Given the description of an element on the screen output the (x, y) to click on. 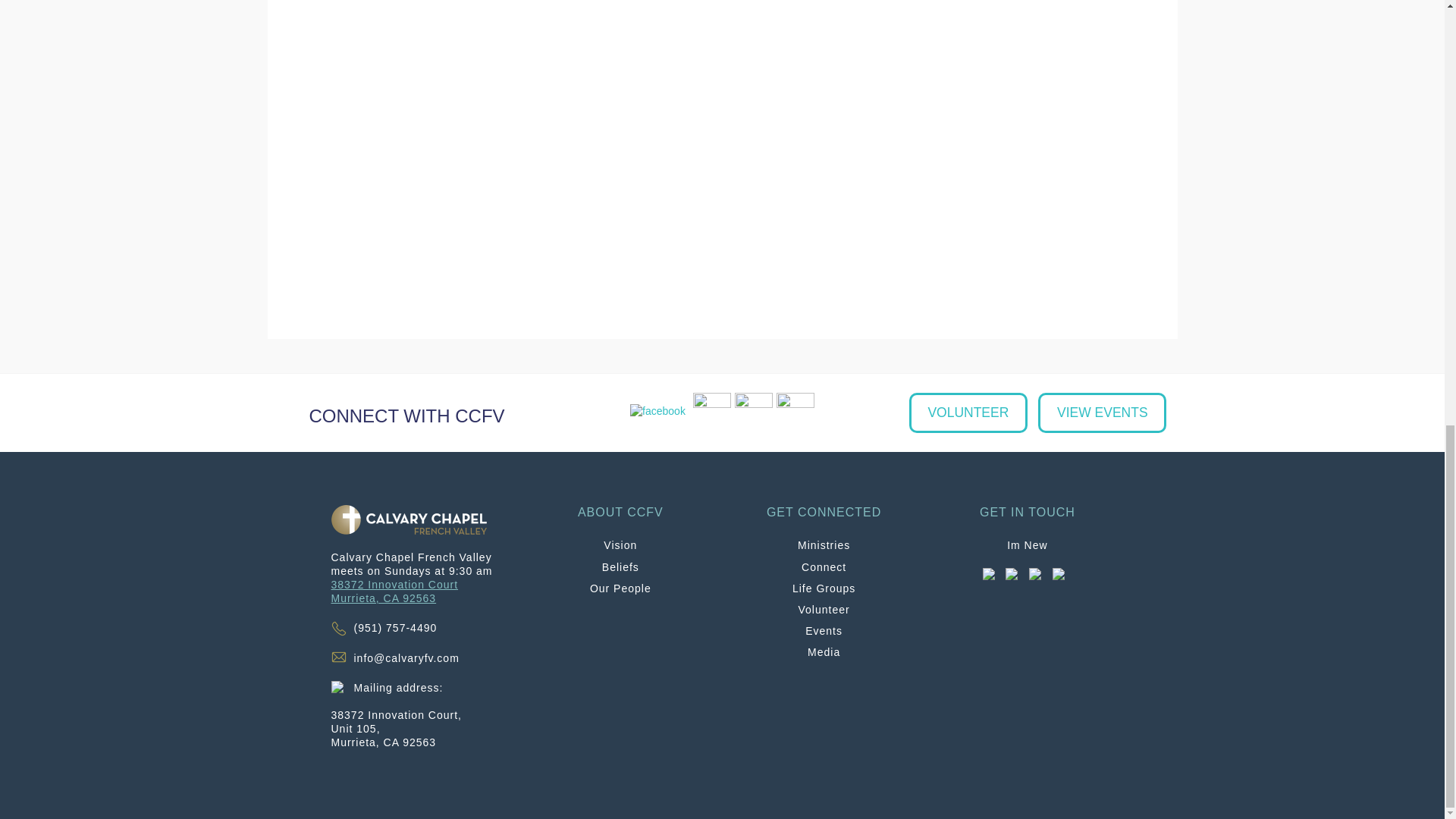
Connect (823, 567)
Beliefs (620, 567)
Our People (619, 588)
Events (824, 630)
Life Groups (394, 591)
Vision (824, 588)
Volunteer (620, 544)
VOLUNTEER (823, 609)
VIEW EVENTS (967, 412)
